Given the description of an element on the screen output the (x, y) to click on. 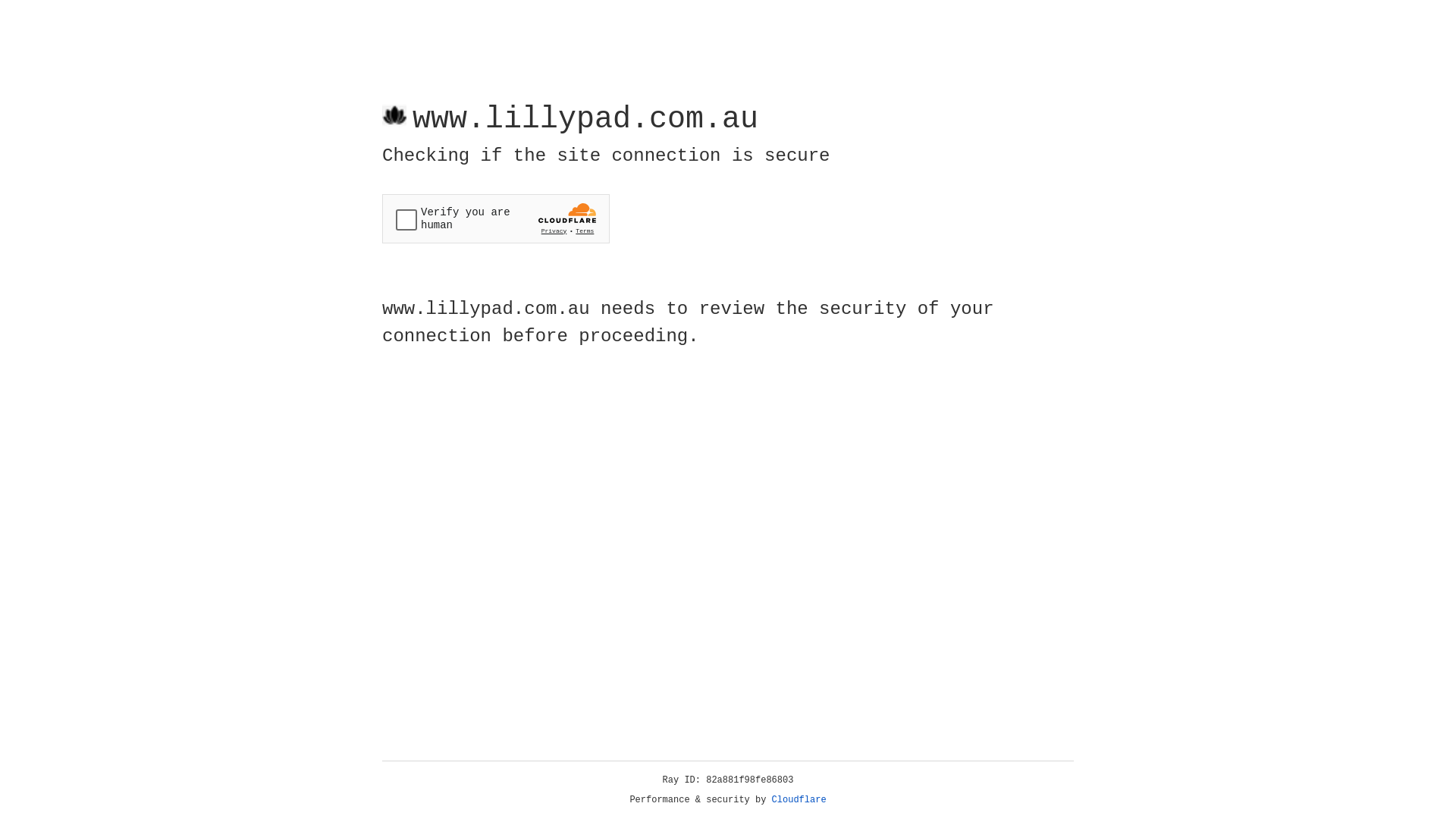
Widget containing a Cloudflare security challenge Element type: hover (495, 218)
Cloudflare Element type: text (798, 799)
